Given the description of an element on the screen output the (x, y) to click on. 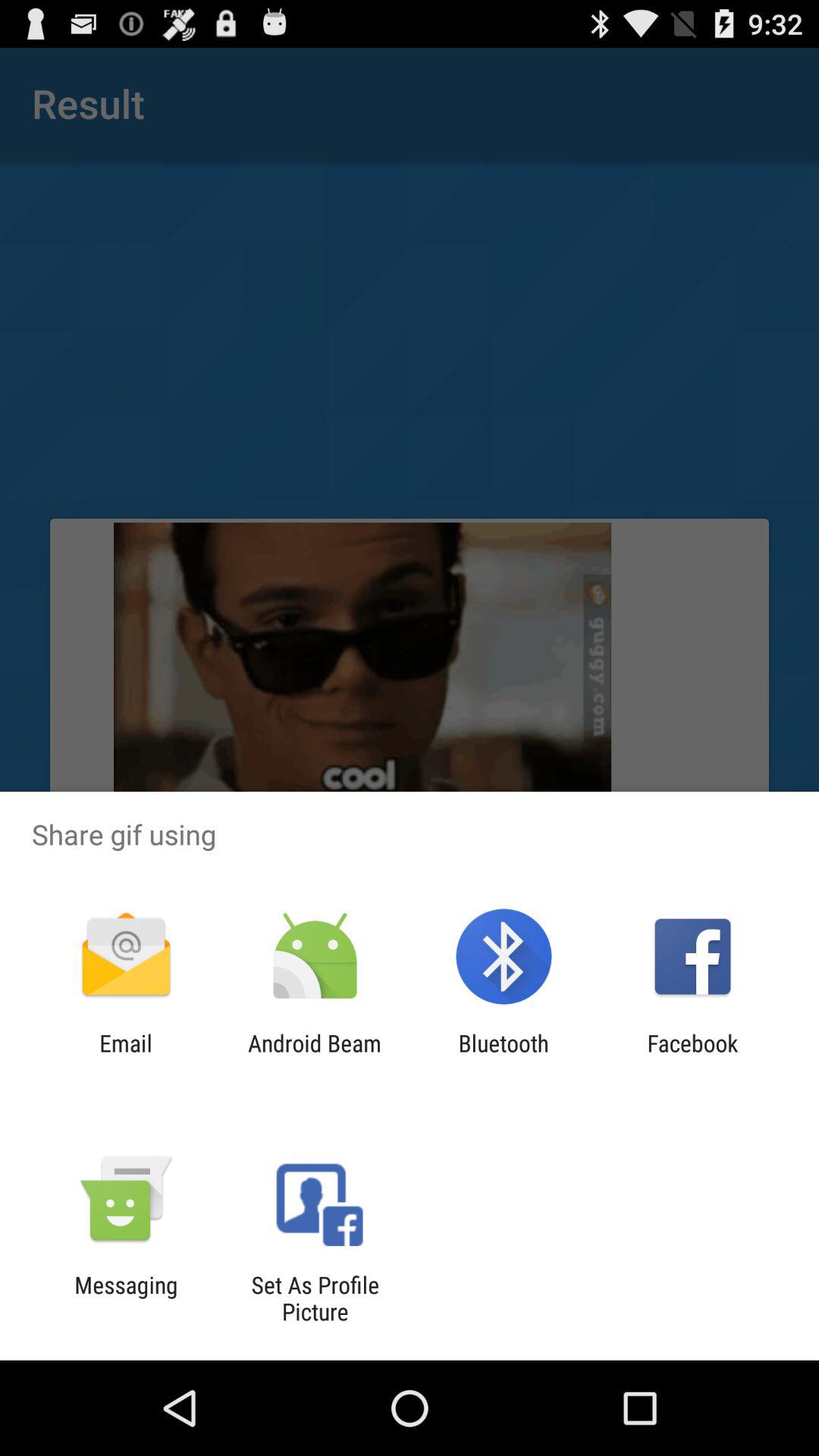
launch bluetooth item (503, 1056)
